Given the description of an element on the screen output the (x, y) to click on. 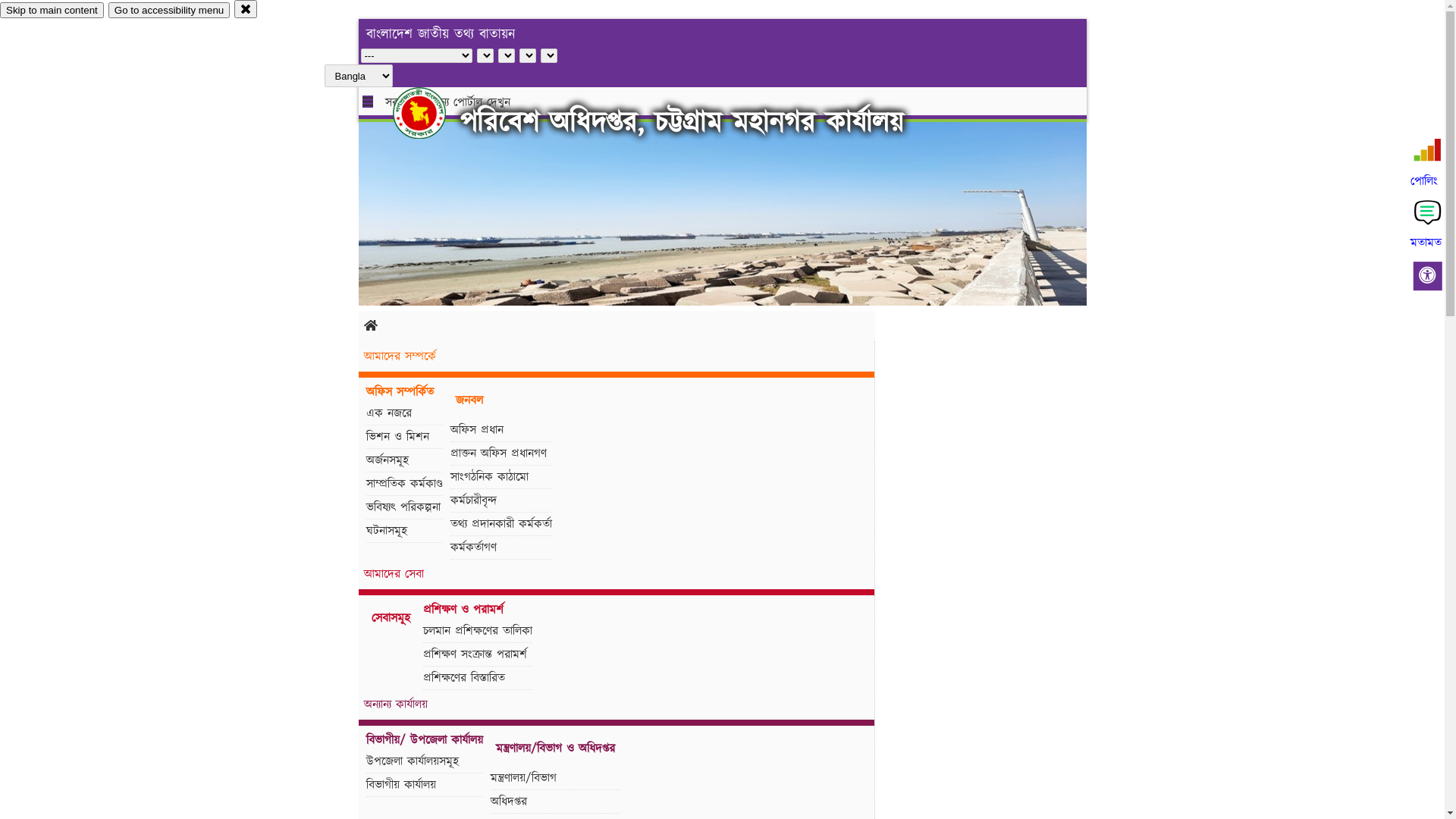
Go to accessibility menu Element type: text (168, 10)
close Element type: hover (245, 9)

                
             Element type: hover (431, 112)
Skip to main content Element type: text (51, 10)
